Given the description of an element on the screen output the (x, y) to click on. 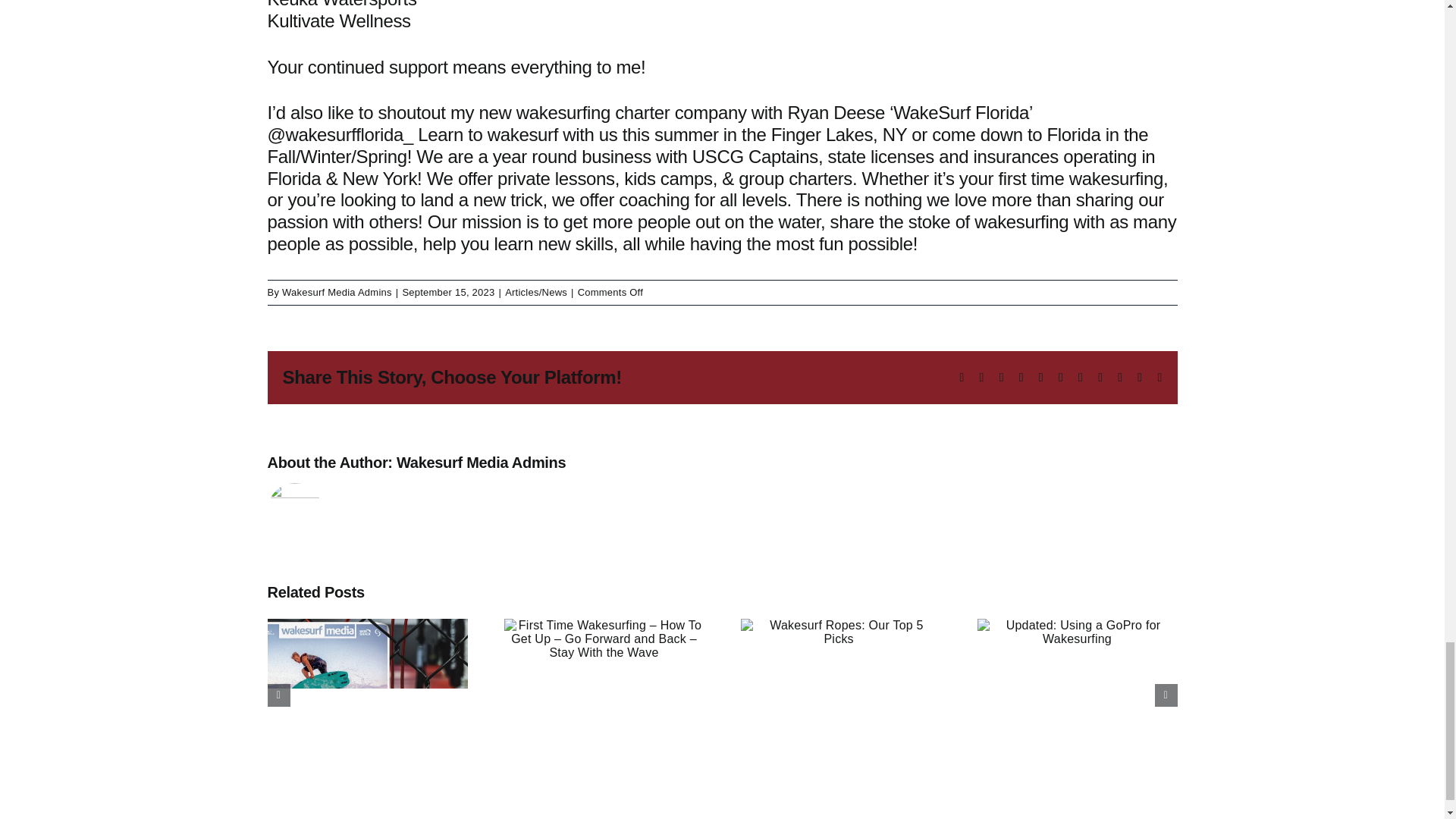
Wakesurf Media Admins (336, 292)
Wakesurf Media Admins (481, 462)
Posts by Wakesurf Media Admins (481, 462)
Posts by Wakesurf Media Admins (336, 292)
